Given the description of an element on the screen output the (x, y) to click on. 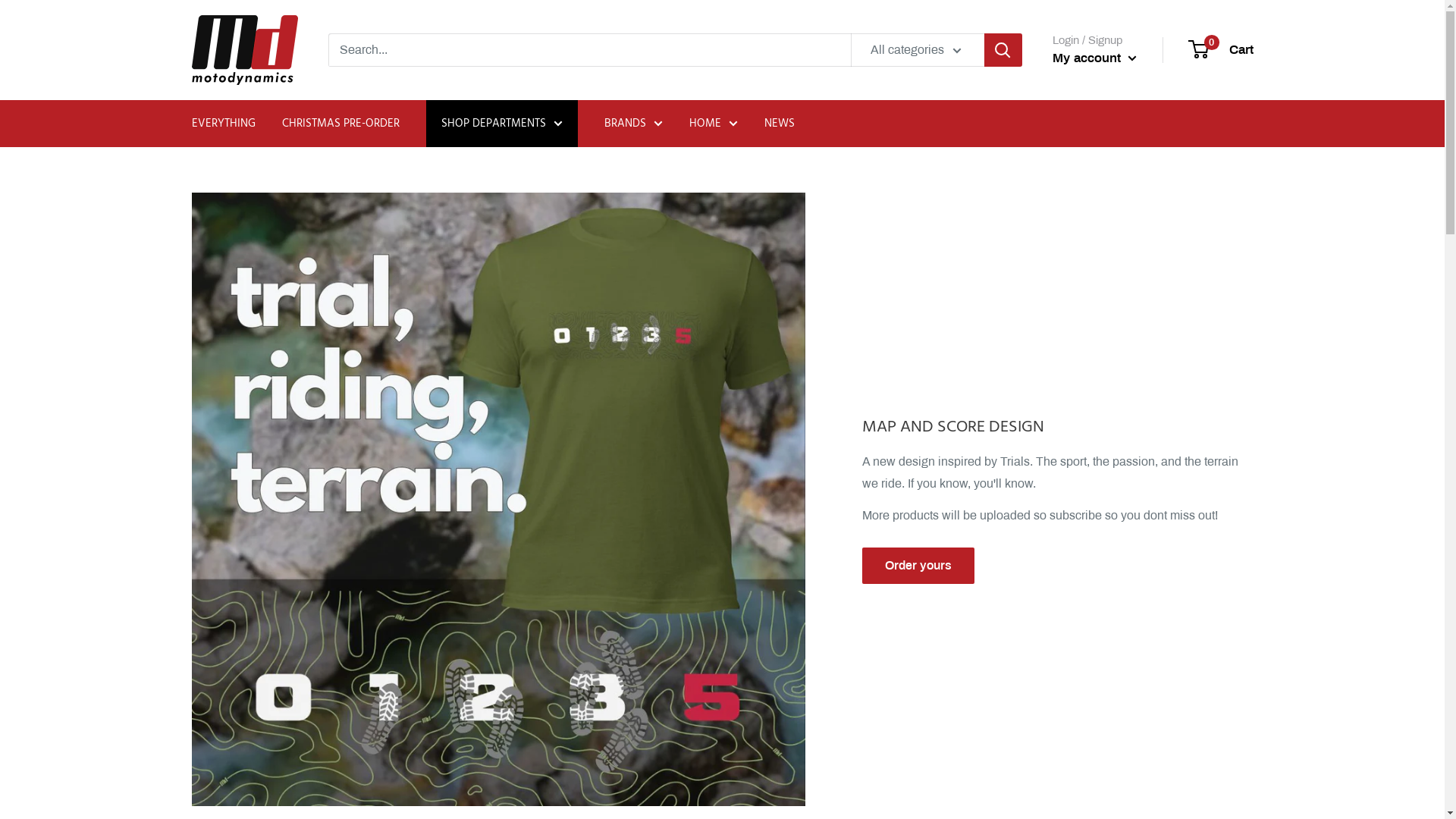
CHRISTMAS PRE-ORDER Element type: text (340, 122)
NEWS Element type: text (779, 122)
SHOP DEPARTMENTS Element type: text (501, 122)
My account Element type: text (1094, 58)
MOTO DYNAMICS Element type: text (244, 49)
EVERYTHING Element type: text (222, 122)
0
Cart Element type: text (1220, 49)
HOME Element type: text (712, 122)
BRANDS Element type: text (632, 122)
Order yours Element type: text (918, 565)
